Given the description of an element on the screen output the (x, y) to click on. 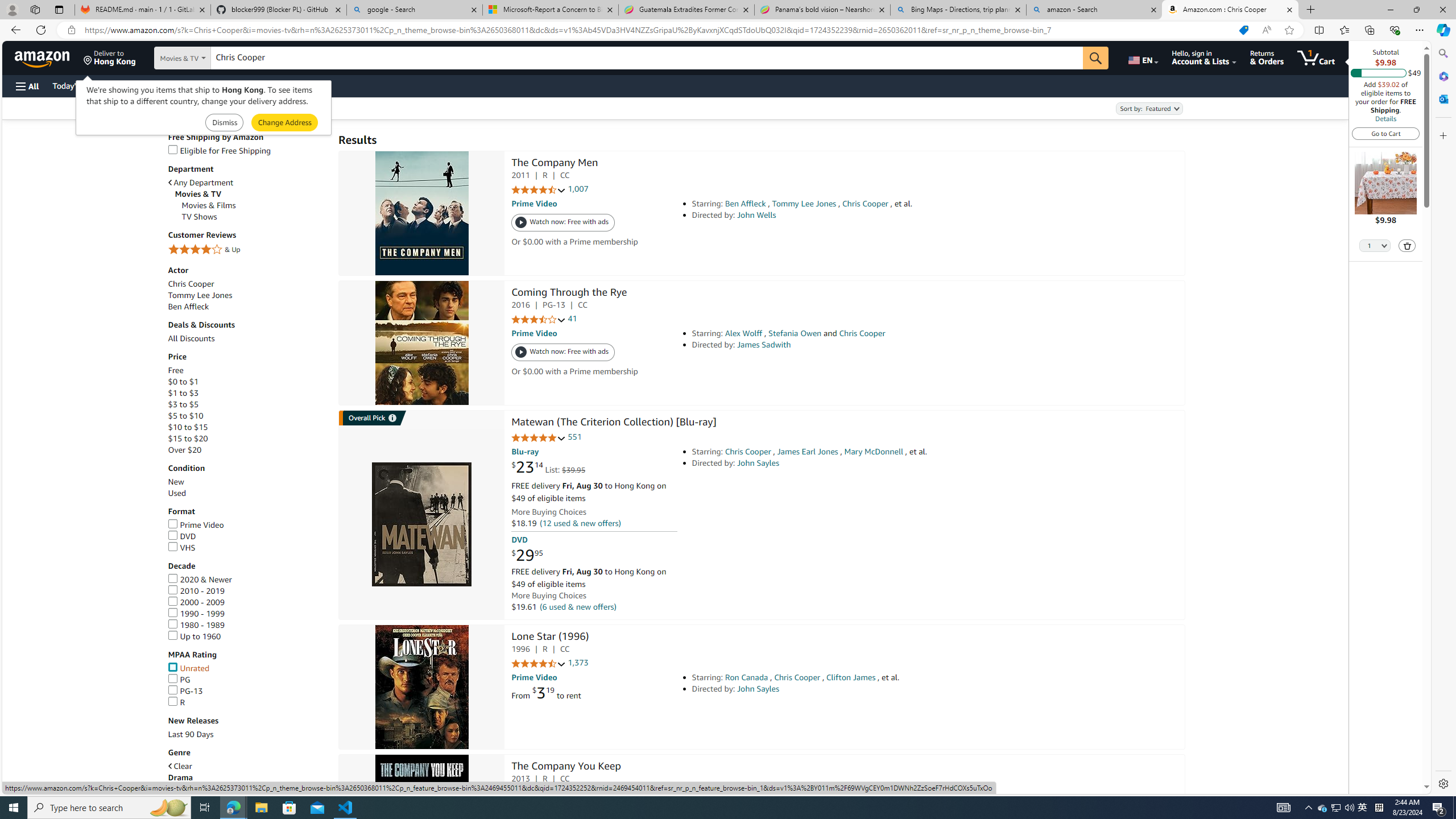
New (247, 481)
Customer Service (145, 85)
Ben Affleck (247, 307)
From $3.19 to rent (545, 693)
3.3 out of 5 stars (538, 319)
$10 to $15 (187, 426)
1,861 (577, 792)
Choose a language for shopping. (1142, 57)
41 (571, 318)
1980 - 1989 (247, 624)
2010 - 2019 (247, 591)
Clear (247, 766)
$3 to $5 (247, 404)
Eligible for Free Shipping (247, 150)
